Given the description of an element on the screen output the (x, y) to click on. 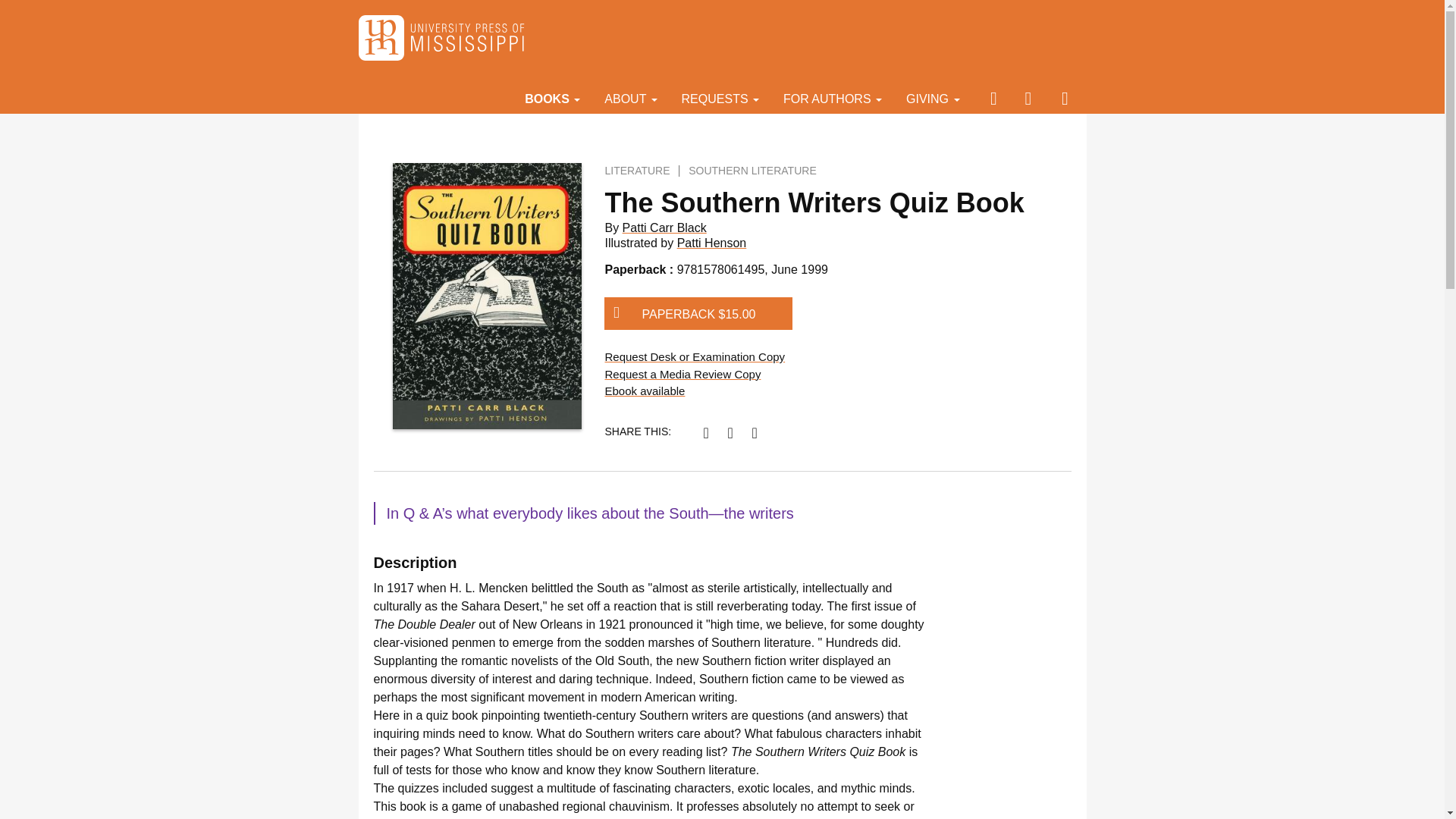
BOOKS (552, 97)
REQUESTS (720, 97)
FOR AUTHORS (832, 97)
ABOUT (630, 97)
